Given the description of an element on the screen output the (x, y) to click on. 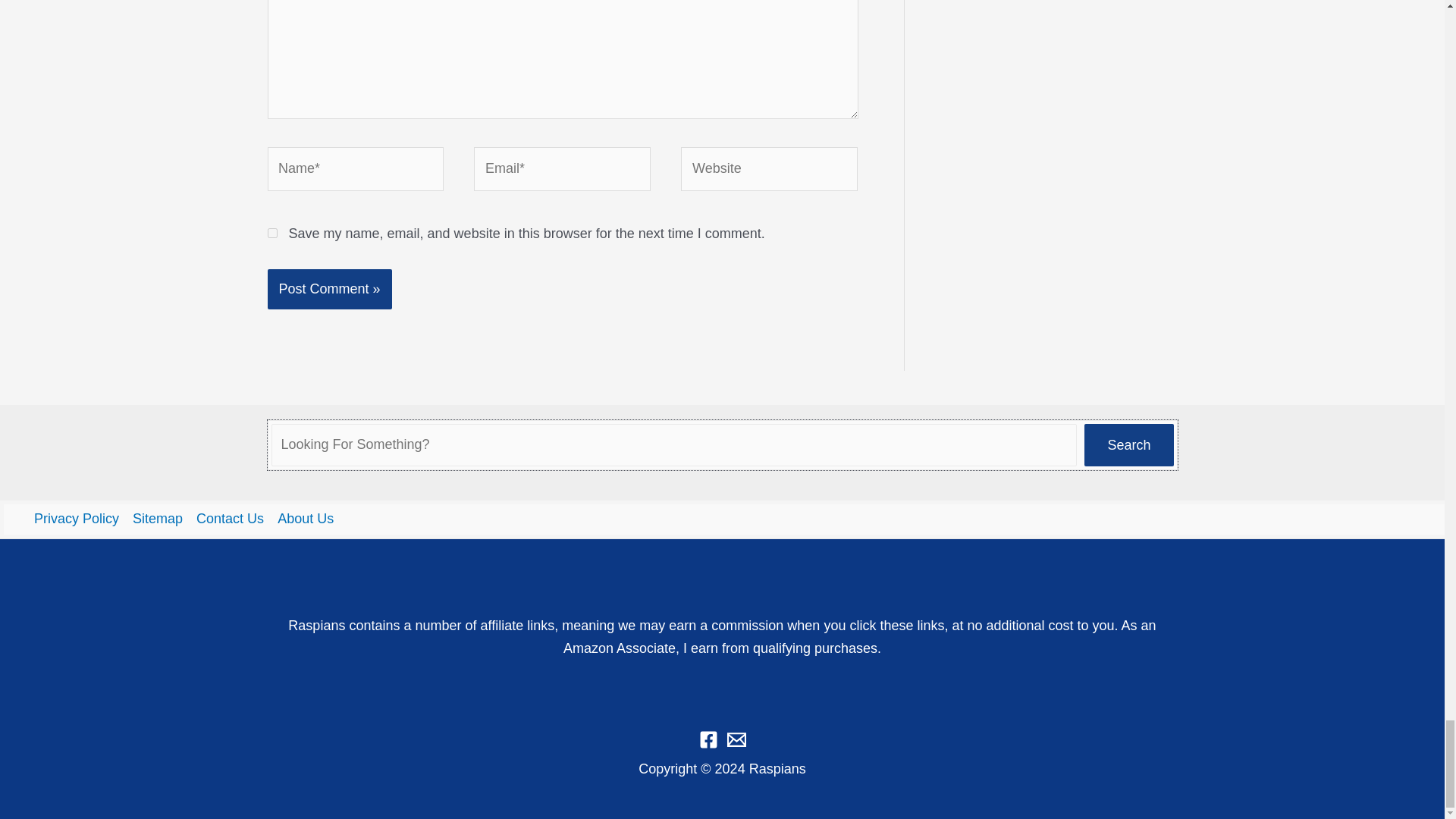
yes (271, 233)
